Given the description of an element on the screen output the (x, y) to click on. 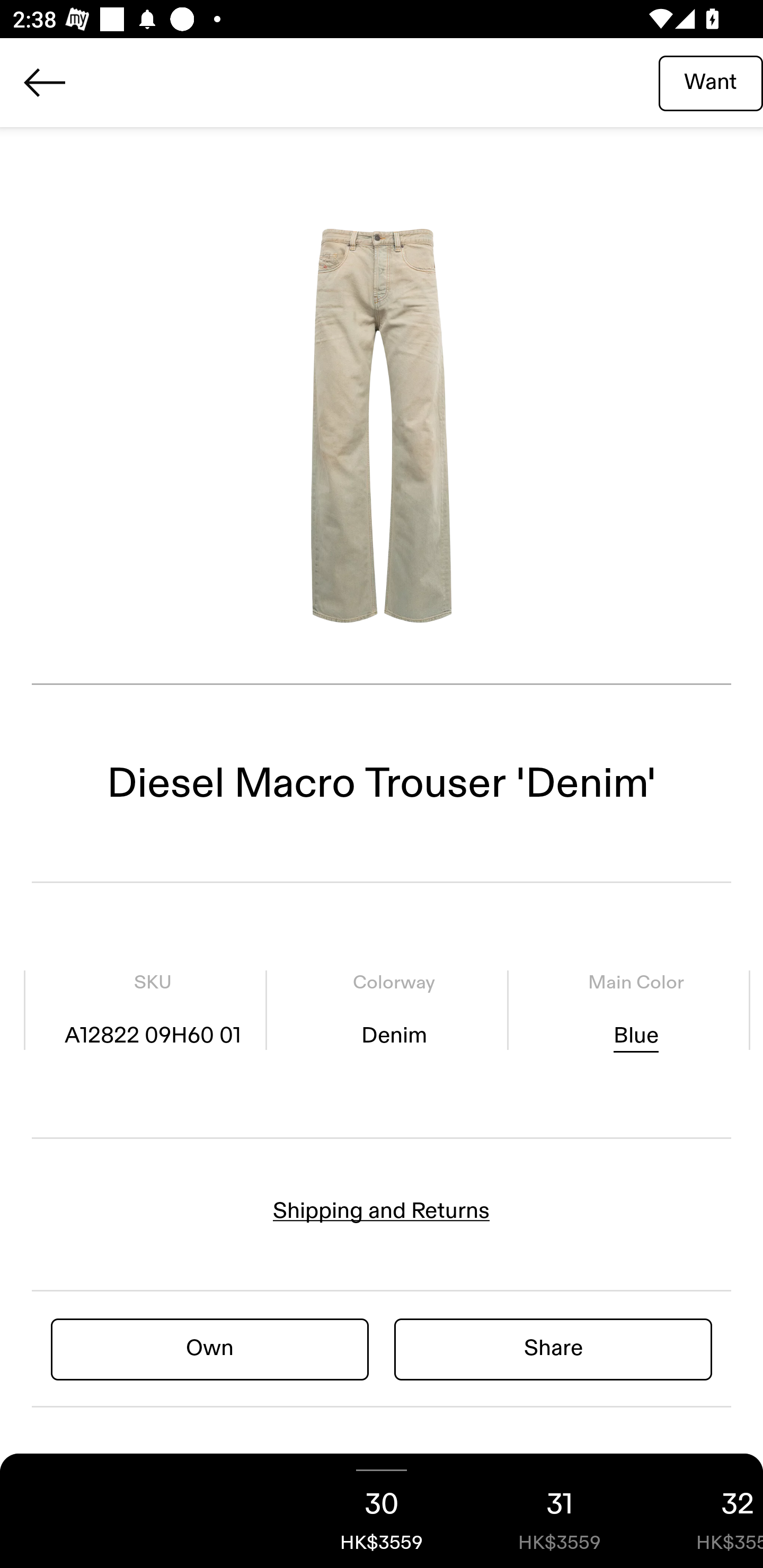
Want (710, 82)
SKU A12822 09H60 01 (152, 1009)
Colorway Denim (394, 1009)
Main Color Blue (635, 1009)
Shipping and Returns (381, 1211)
Own (209, 1348)
Share (552, 1348)
30 HK$3559 (381, 1510)
31 HK$3559 (559, 1510)
32 HK$3559 (705, 1510)
